Given the description of an element on the screen output the (x, y) to click on. 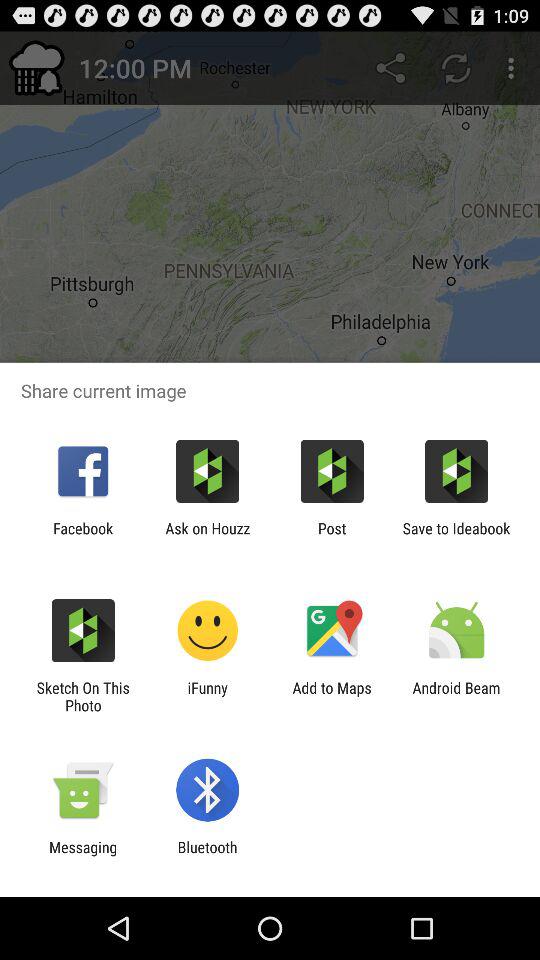
scroll to the android beam icon (456, 696)
